Given the description of an element on the screen output the (x, y) to click on. 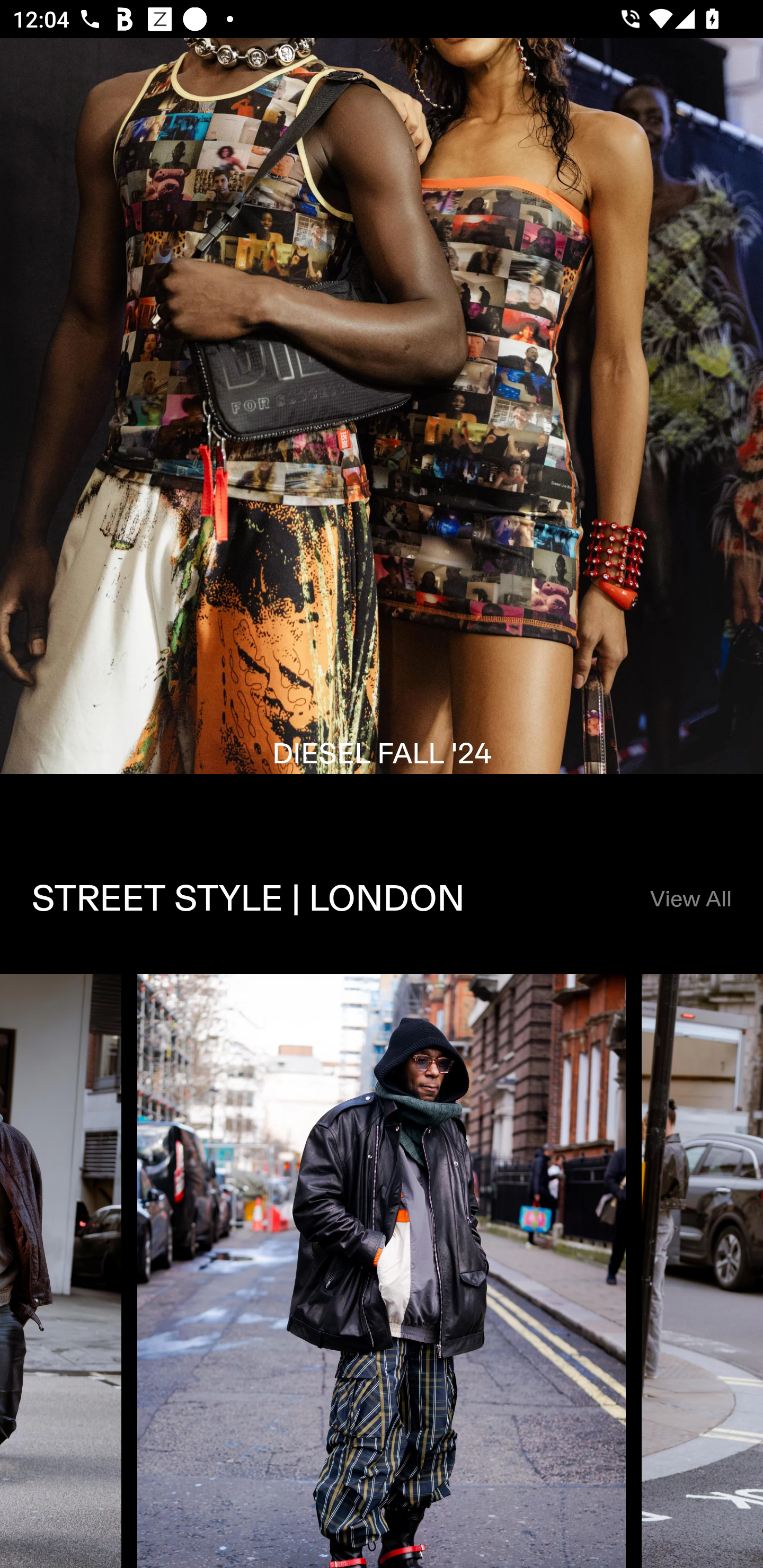
View All (690, 899)
